Given the description of an element on the screen output the (x, y) to click on. 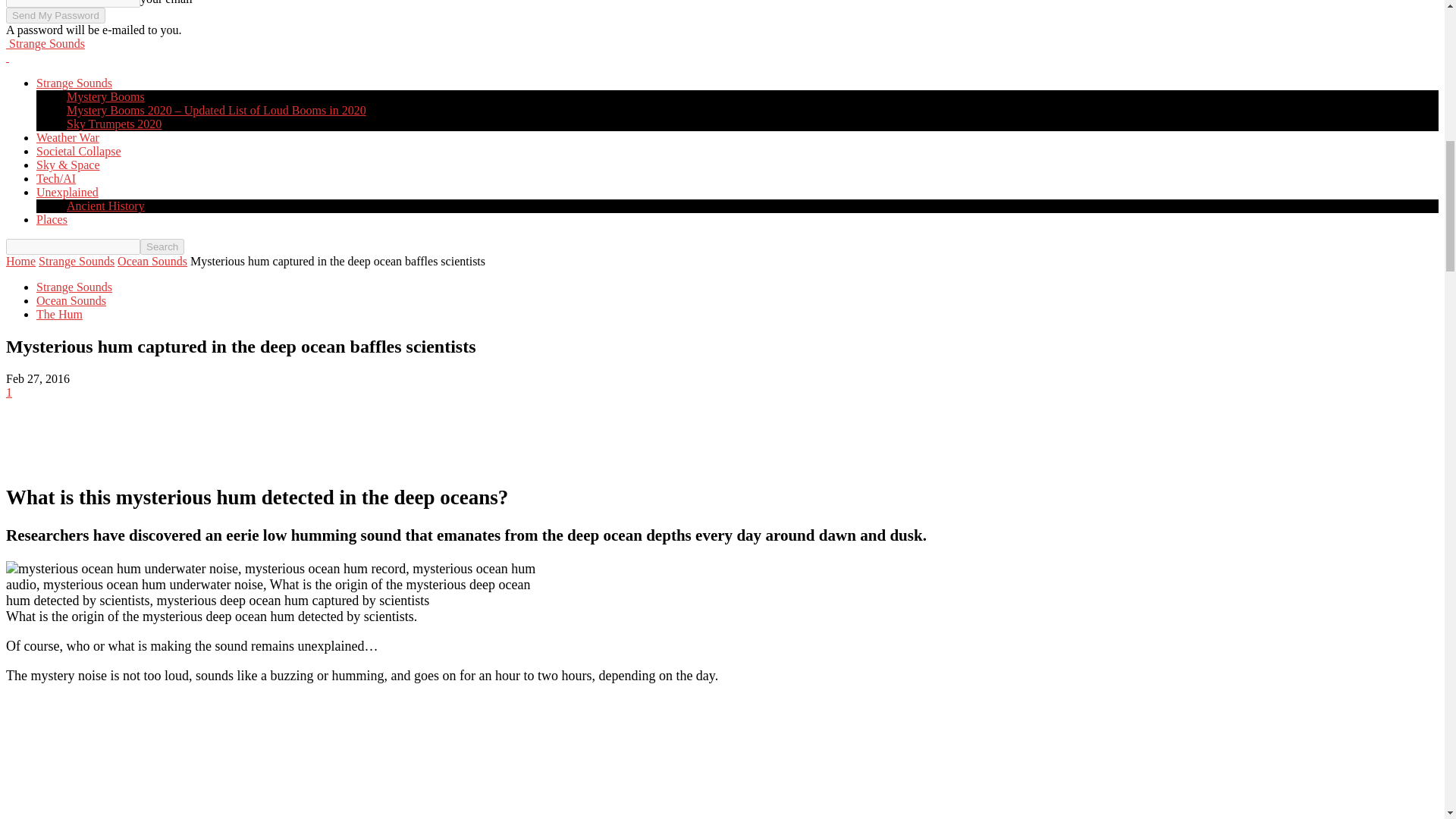
Search (161, 246)
Strange Sounds (44, 42)
Send My Password (54, 15)
